Given the description of an element on the screen output the (x, y) to click on. 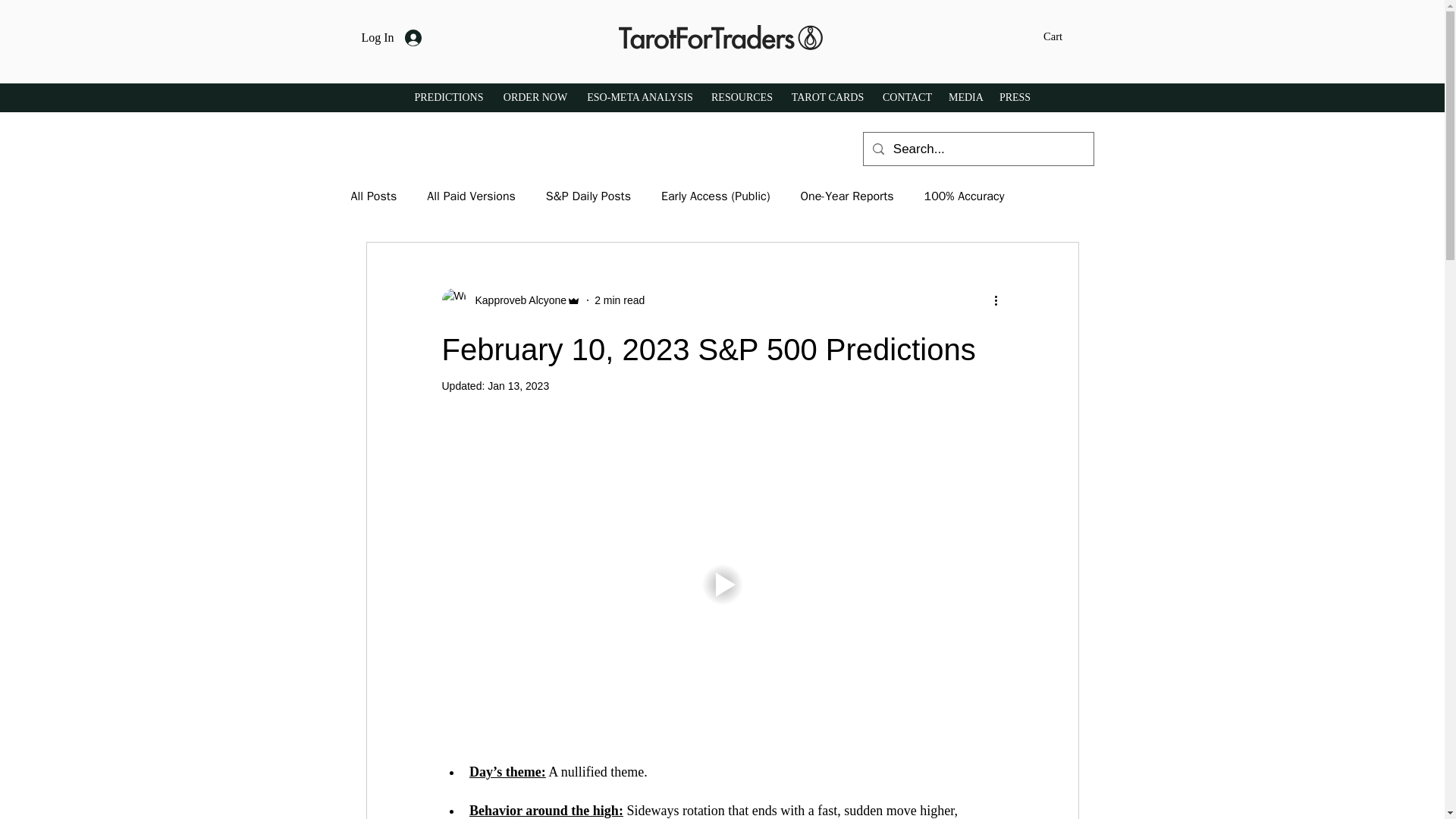
PRESS (1014, 97)
RESOURCES (741, 97)
CONTACT (906, 97)
PREDICTIONS (448, 97)
Cart (1062, 36)
Kapproveb Alcyone (515, 300)
MEDIA (965, 97)
Jan 13, 2023 (517, 386)
ORDER NOW (535, 97)
All Paid Versions (470, 195)
